Given the description of an element on the screen output the (x, y) to click on. 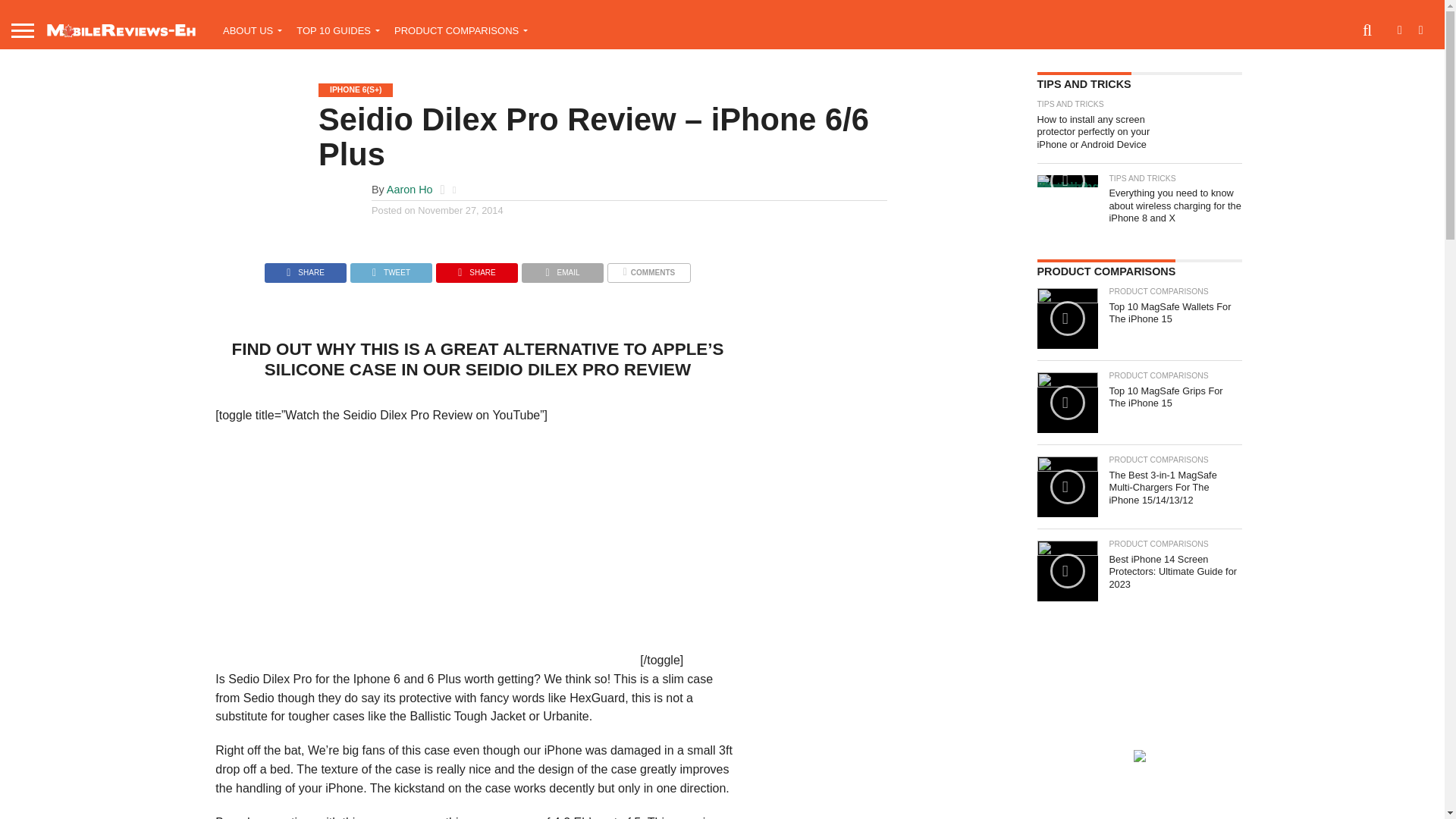
TOP 10 GUIDES (334, 30)
Share on Facebook (305, 268)
PRODUCT COMPARISONS (457, 30)
Posts by Aaron Ho (409, 189)
ABOUT US (248, 30)
Tweet This Post (390, 268)
Pin This Post (476, 268)
